Given the description of an element on the screen output the (x, y) to click on. 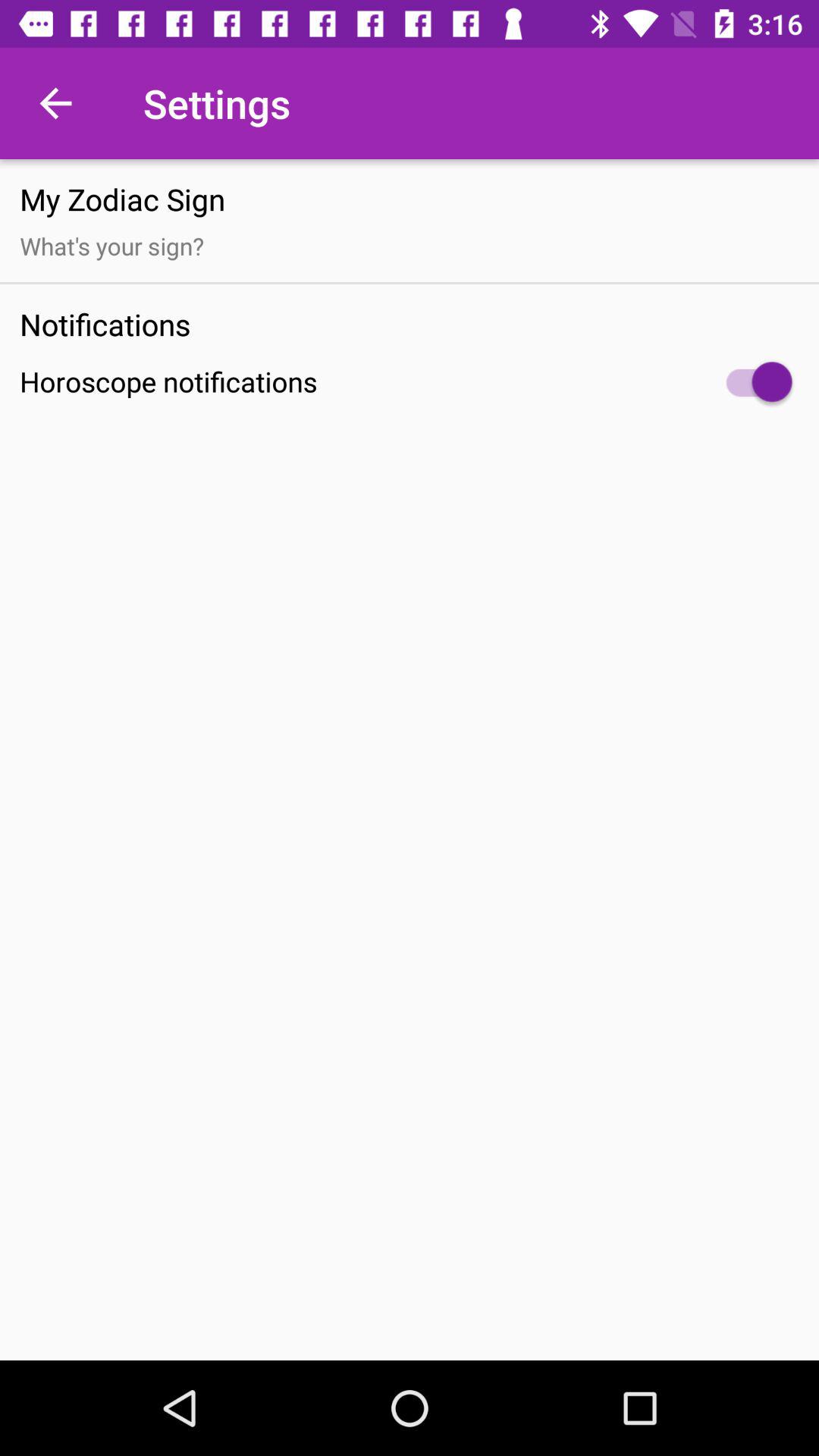
choose item to the left of settings (55, 103)
